Given the description of an element on the screen output the (x, y) to click on. 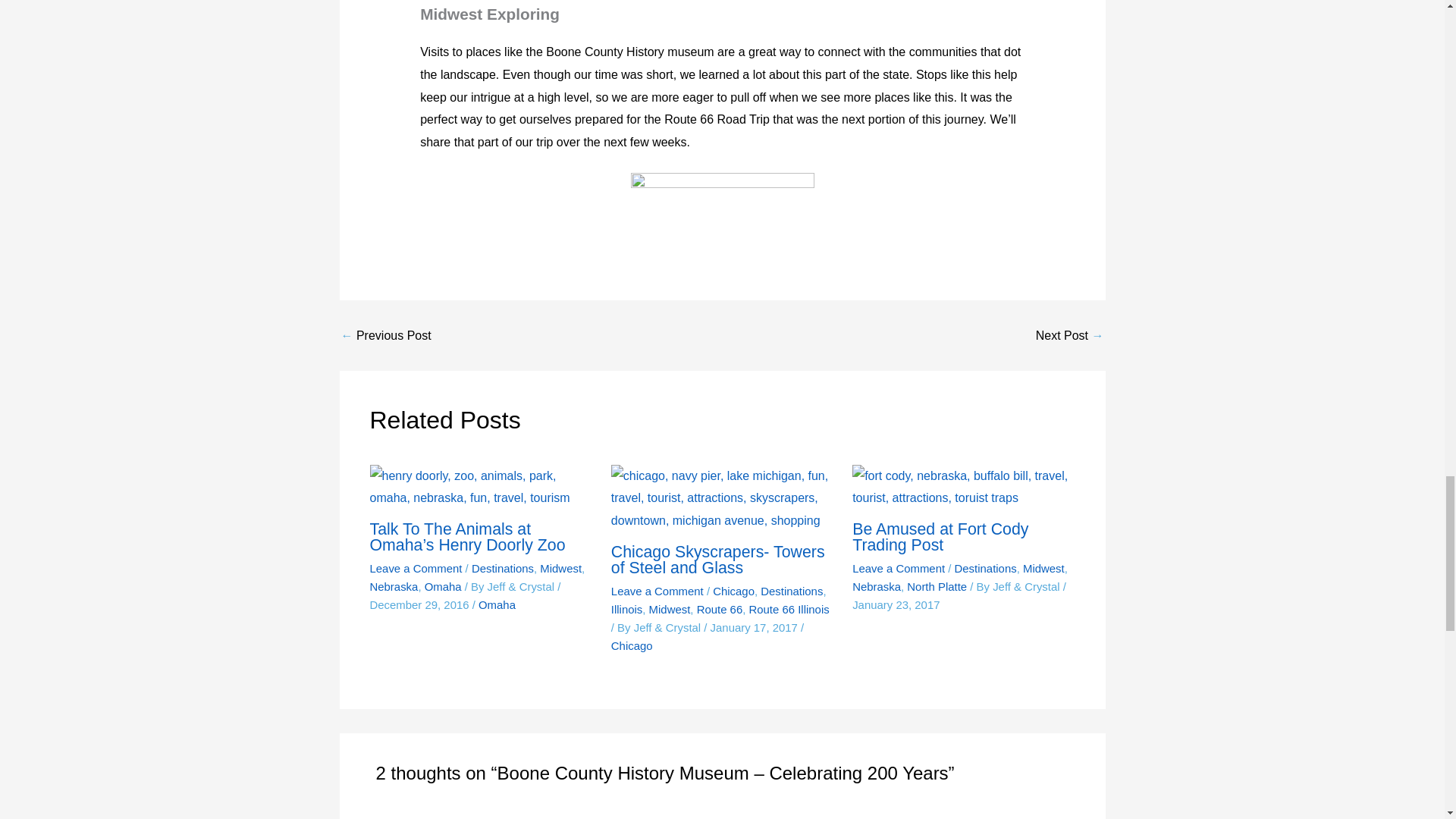
Folded Biscuit Bliss - Denver Biscuit Co. (385, 336)
Dogwood Canyon Nature Park - 10,000 Acres Of Exploring (1069, 336)
